Given the description of an element on the screen output the (x, y) to click on. 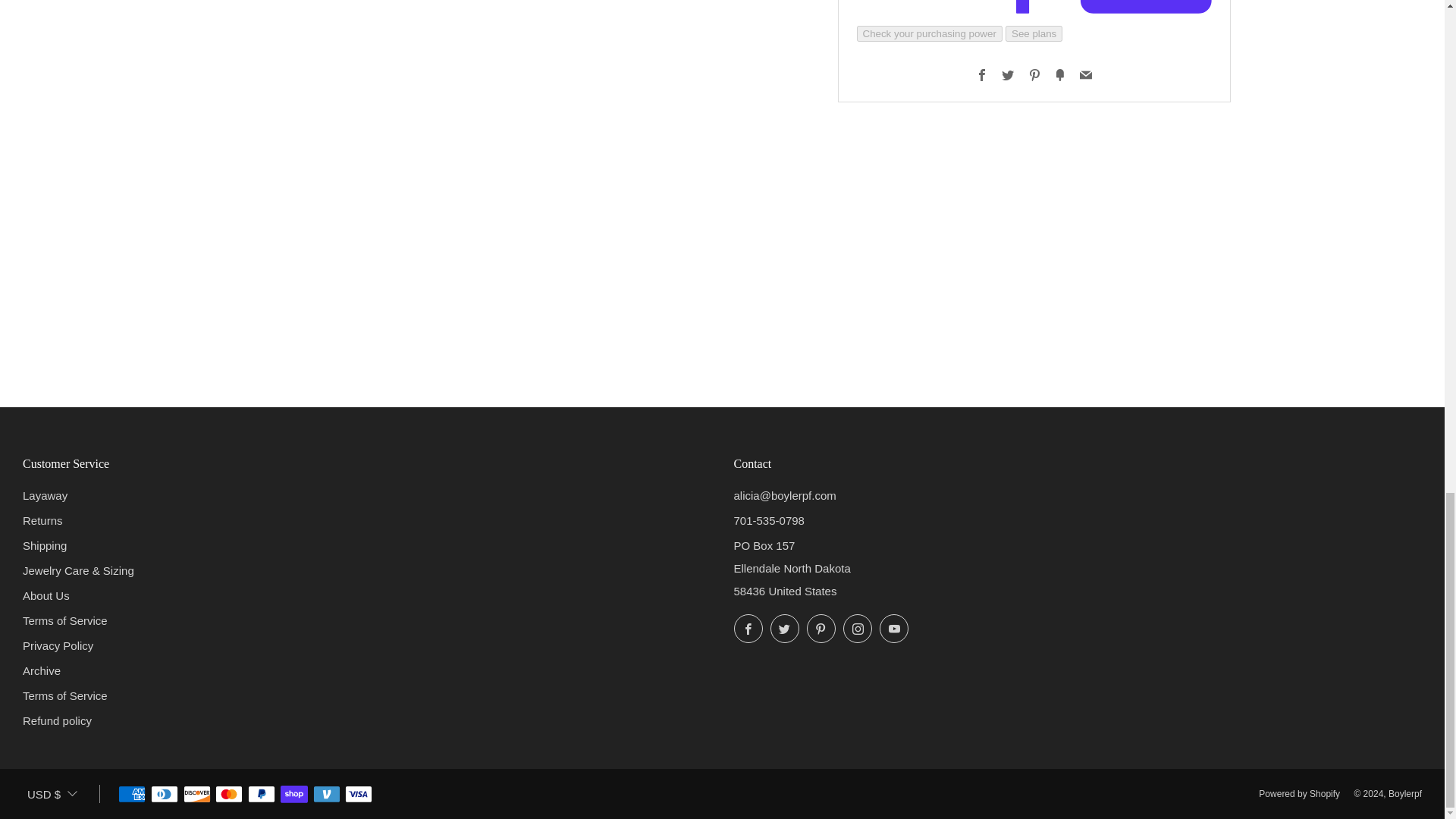
Discover (197, 794)
Diners Club (164, 794)
Visa (358, 794)
Venmo (326, 794)
Mastercard (229, 794)
Shop Pay (294, 794)
American Express (131, 794)
PayPal (261, 794)
